Given the description of an element on the screen output the (x, y) to click on. 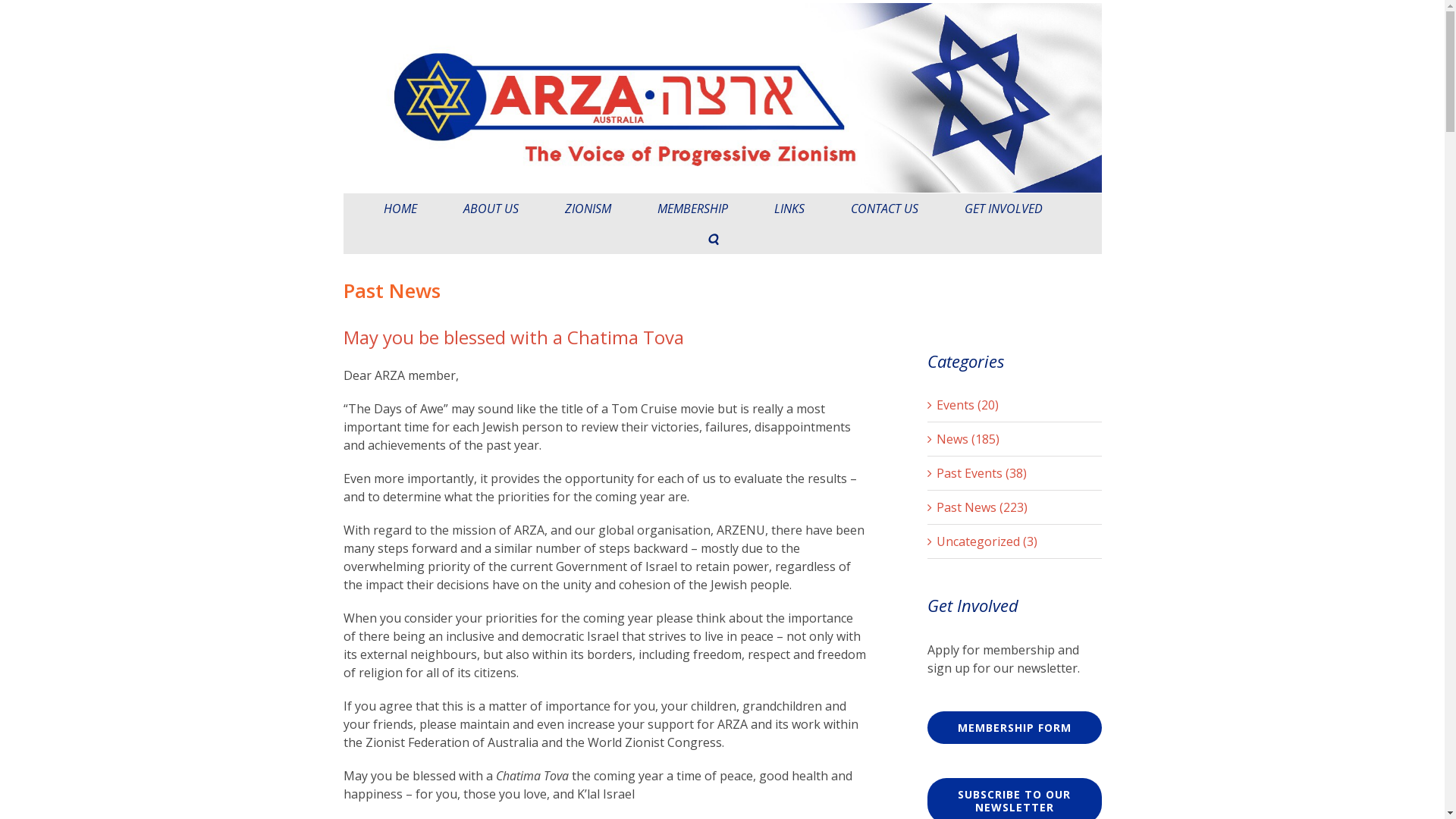
CONTACT US Element type: text (884, 208)
Past Events (38) Element type: text (1014, 473)
May you be blessed with a Chatima Tova Element type: text (512, 336)
Events (20) Element type: text (1014, 404)
LINKS Element type: text (788, 208)
News (185) Element type: text (1014, 438)
HOME Element type: text (400, 208)
MEMBERSHIP Element type: text (691, 208)
Past News (223) Element type: text (1014, 507)
ZIONISM Element type: text (587, 208)
GET INVOLVED Element type: text (1003, 208)
Uncategorized (3) Element type: text (1014, 541)
MEMBERSHIP FORM Element type: text (1013, 727)
ABOUT US Element type: text (489, 208)
Search Element type: hover (712, 238)
